Given the description of an element on the screen output the (x, y) to click on. 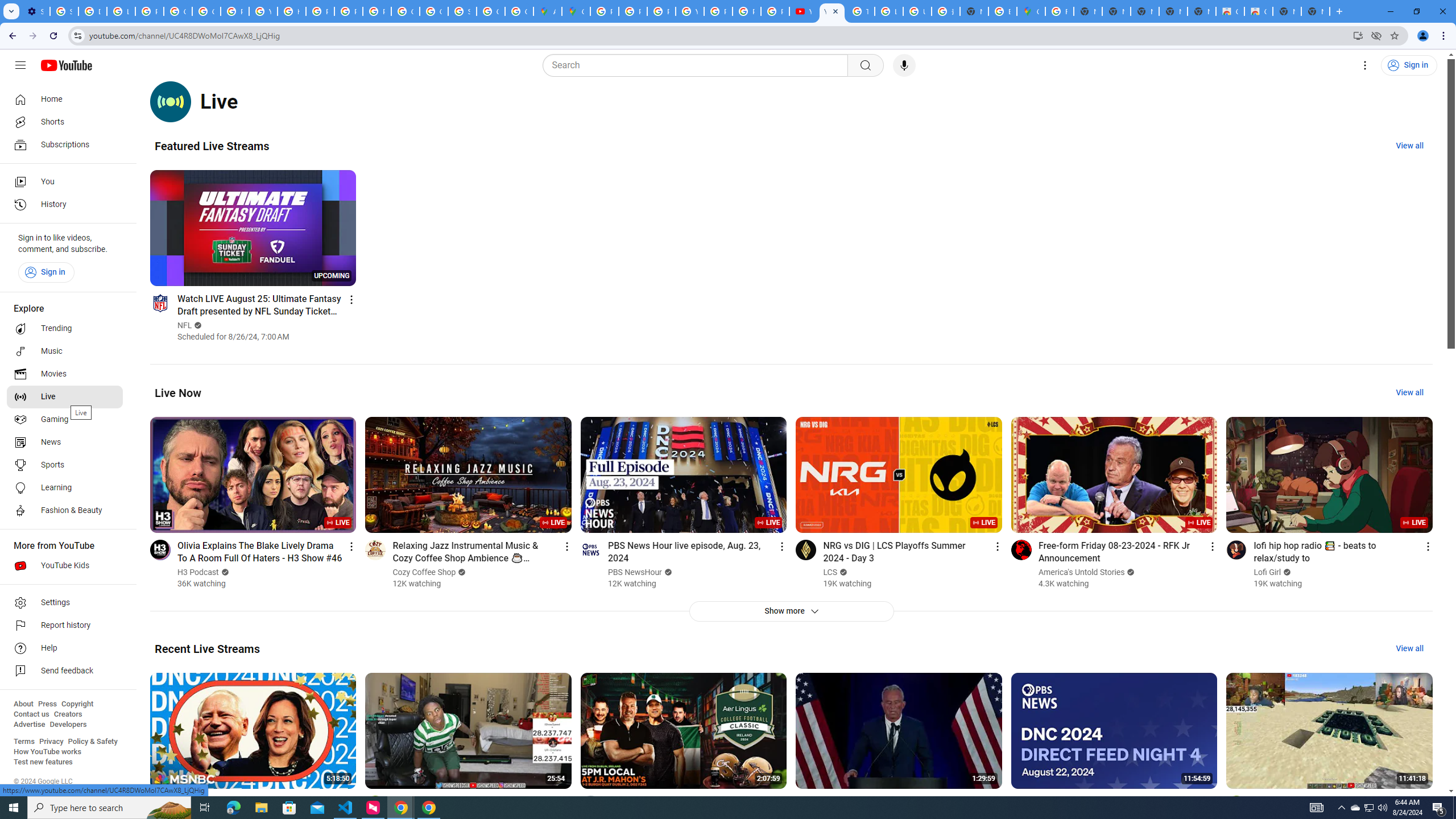
Settings (64, 602)
Search (865, 65)
Third-party cookies blocked (1376, 35)
Music (64, 350)
Help (64, 648)
Tips & tricks for Chrome - Google Chrome Help (860, 11)
Learn how to find your photos - Google Photos Help (120, 11)
Sports (64, 464)
YouTube Kids (64, 565)
Address and search bar (717, 35)
Privacy Help Center - Policies Help (320, 11)
Privacy (51, 741)
